Given the description of an element on the screen output the (x, y) to click on. 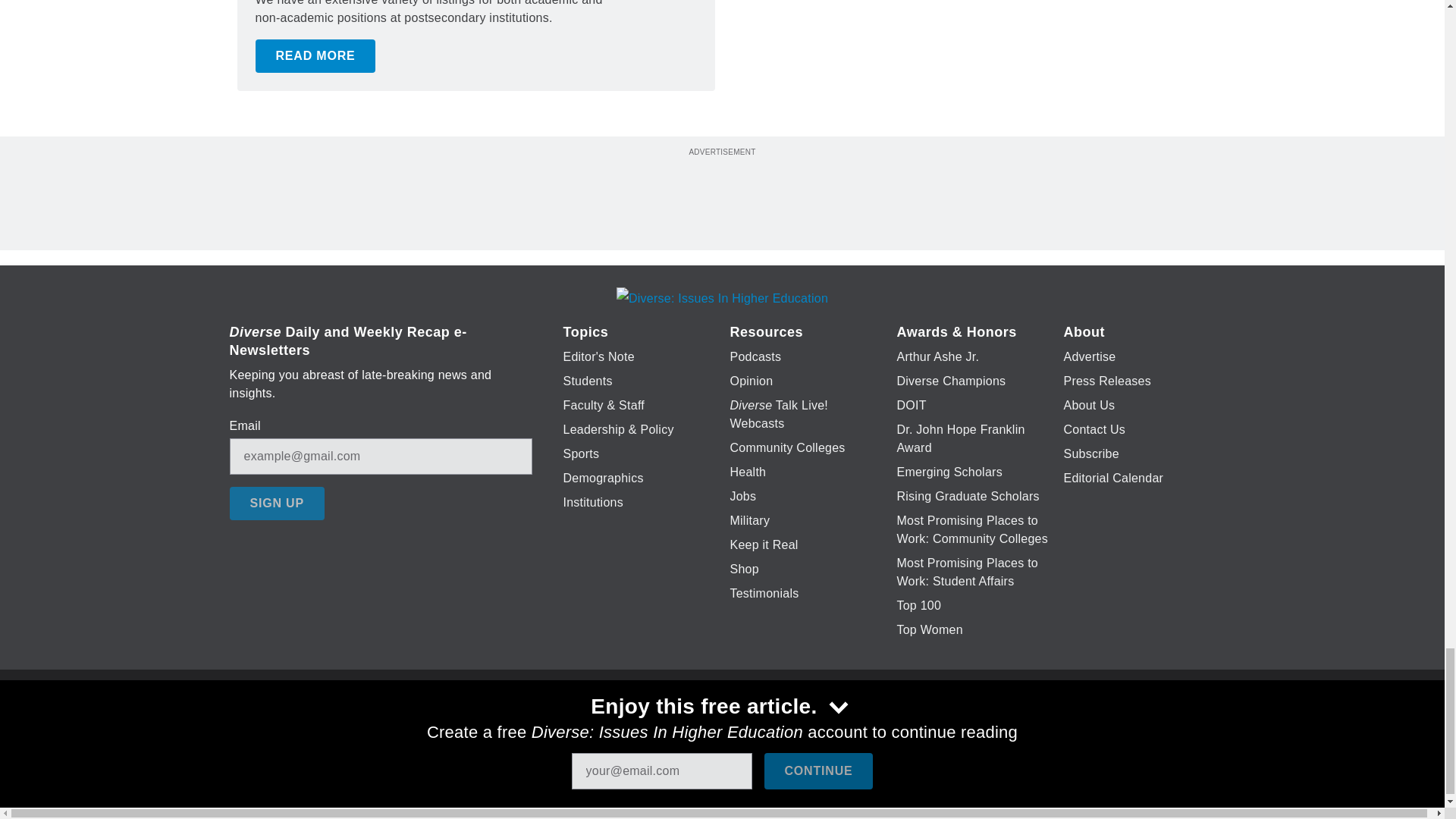
LinkedIn icon (718, 727)
Facebook icon (635, 727)
Twitter X icon (674, 727)
Instagram icon (796, 727)
YouTube icon (757, 727)
